Given the description of an element on the screen output the (x, y) to click on. 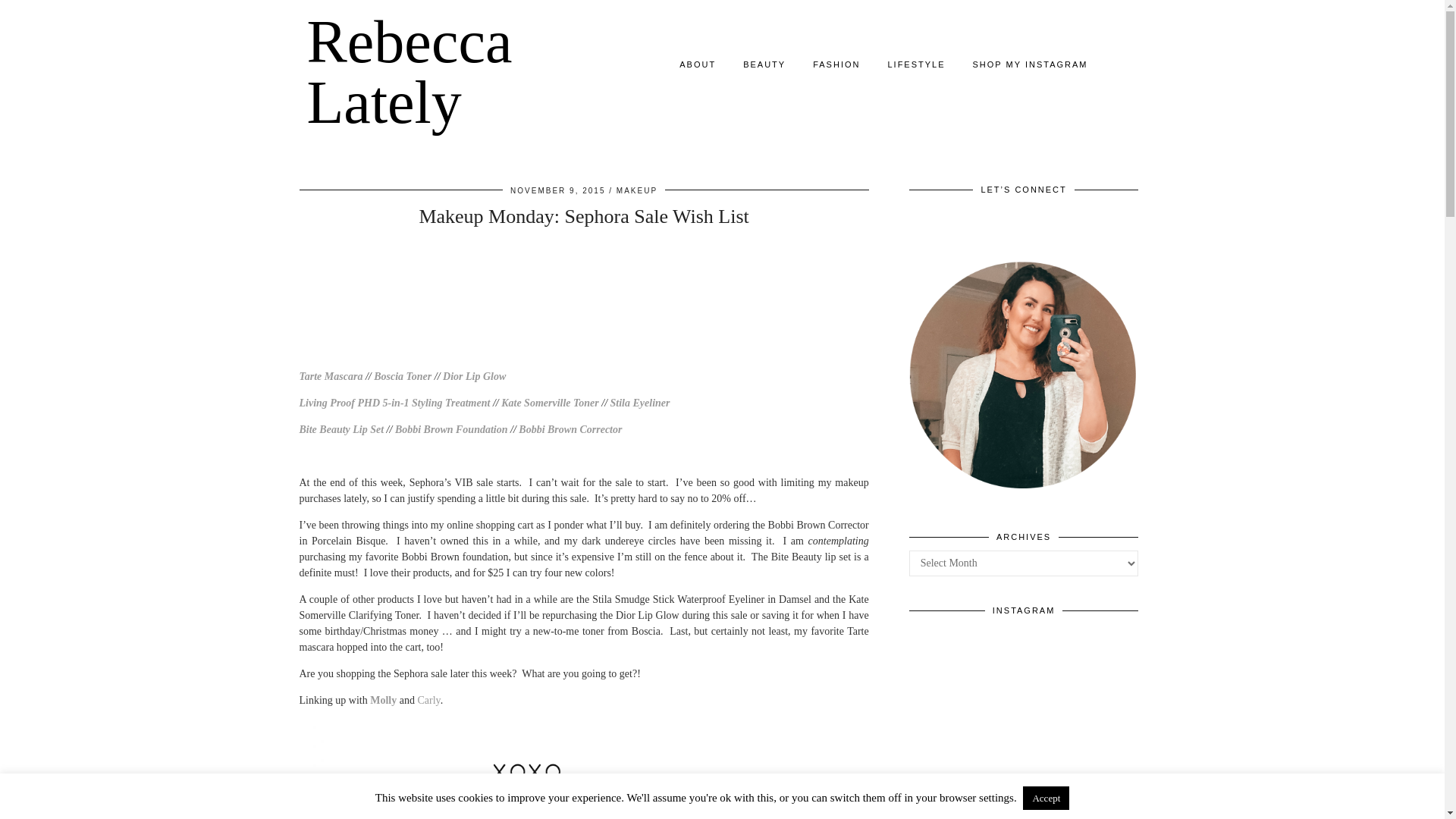
Rebecca Lately (408, 71)
BEAUTY (764, 63)
Rebecca Lately (408, 71)
ABOUT (697, 63)
FASHION (836, 63)
